Given the description of an element on the screen output the (x, y) to click on. 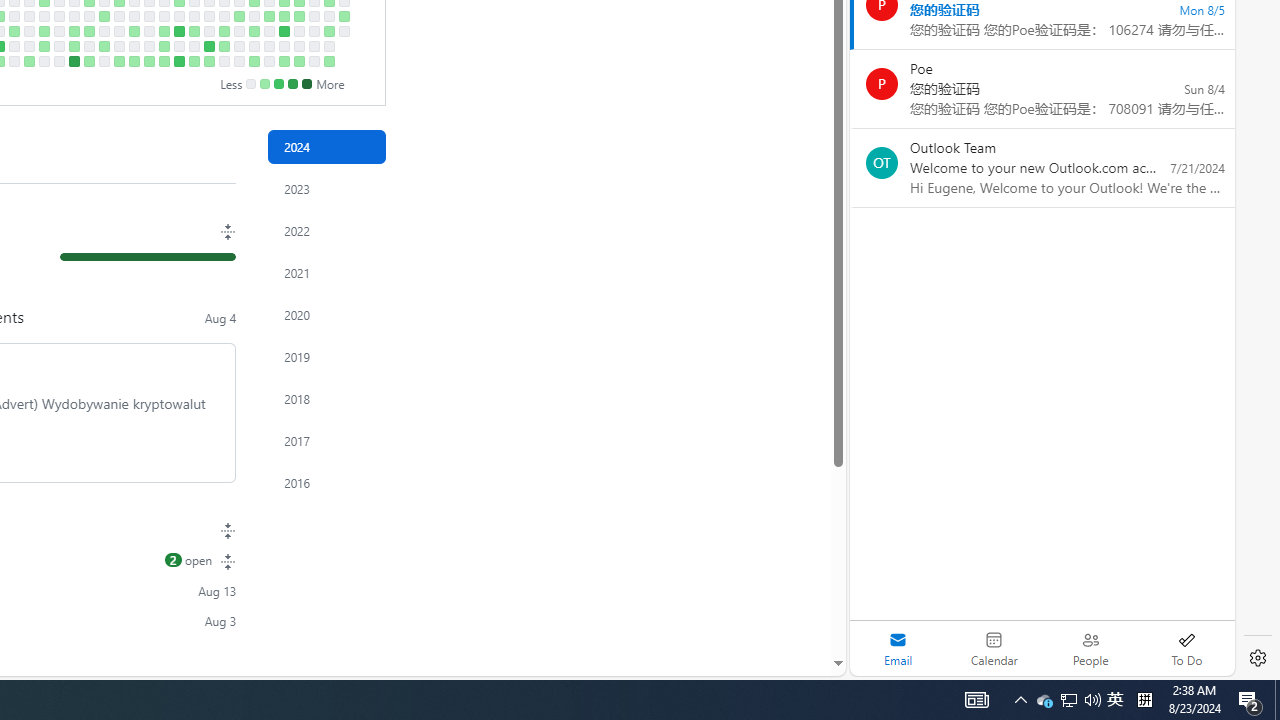
2 contributions on May 1st. (104, 16)
7 contributions on June 6th. (178, 30)
No contributions on May 22nd. (148, 16)
No contributions on July 6th. (238, 61)
3 contributions on April 27th. (88, 61)
No contributions on March 28th. (28, 30)
No contributions on April 3rd. (43, 16)
2 contributions on April 18th. (73, 30)
No contributions on April 24th. (88, 16)
1 contribution on May 16th. (133, 30)
No contributions on April 6th. (43, 61)
No contributions on July 18th. (268, 30)
Contribution activity in 2018 (326, 399)
No contributions on June 12th. (193, 16)
1 contribution on August 21st. (343, 16)
